Given the description of an element on the screen output the (x, y) to click on. 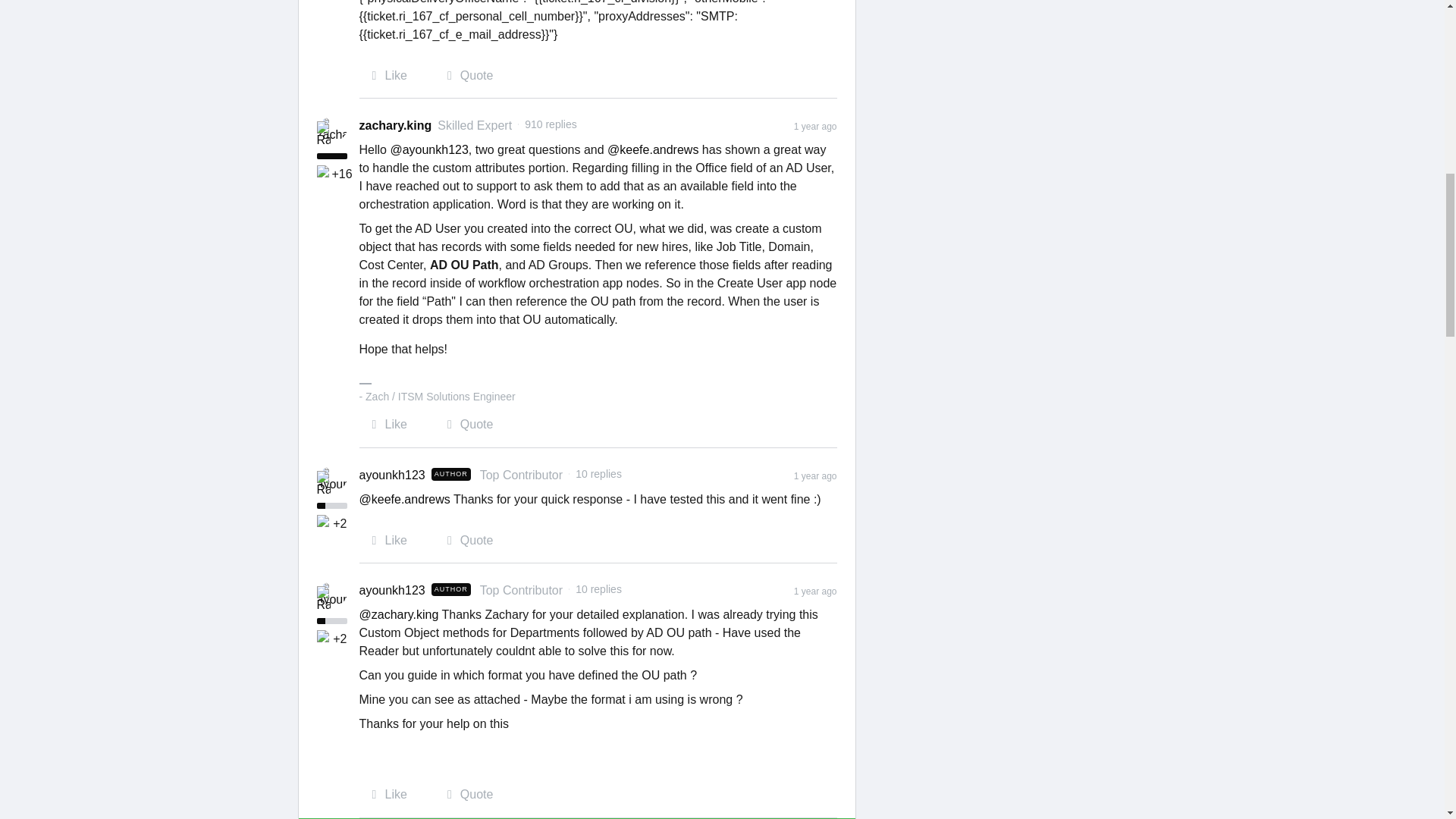
ayounkh123 (392, 475)
Like (383, 541)
1 year ago (815, 124)
1 year ago (815, 590)
ayounkh123 (392, 590)
Like (383, 76)
ayounkh123 (392, 475)
zachary.king (395, 126)
Like (383, 795)
Quote (463, 541)
